Given the description of an element on the screen output the (x, y) to click on. 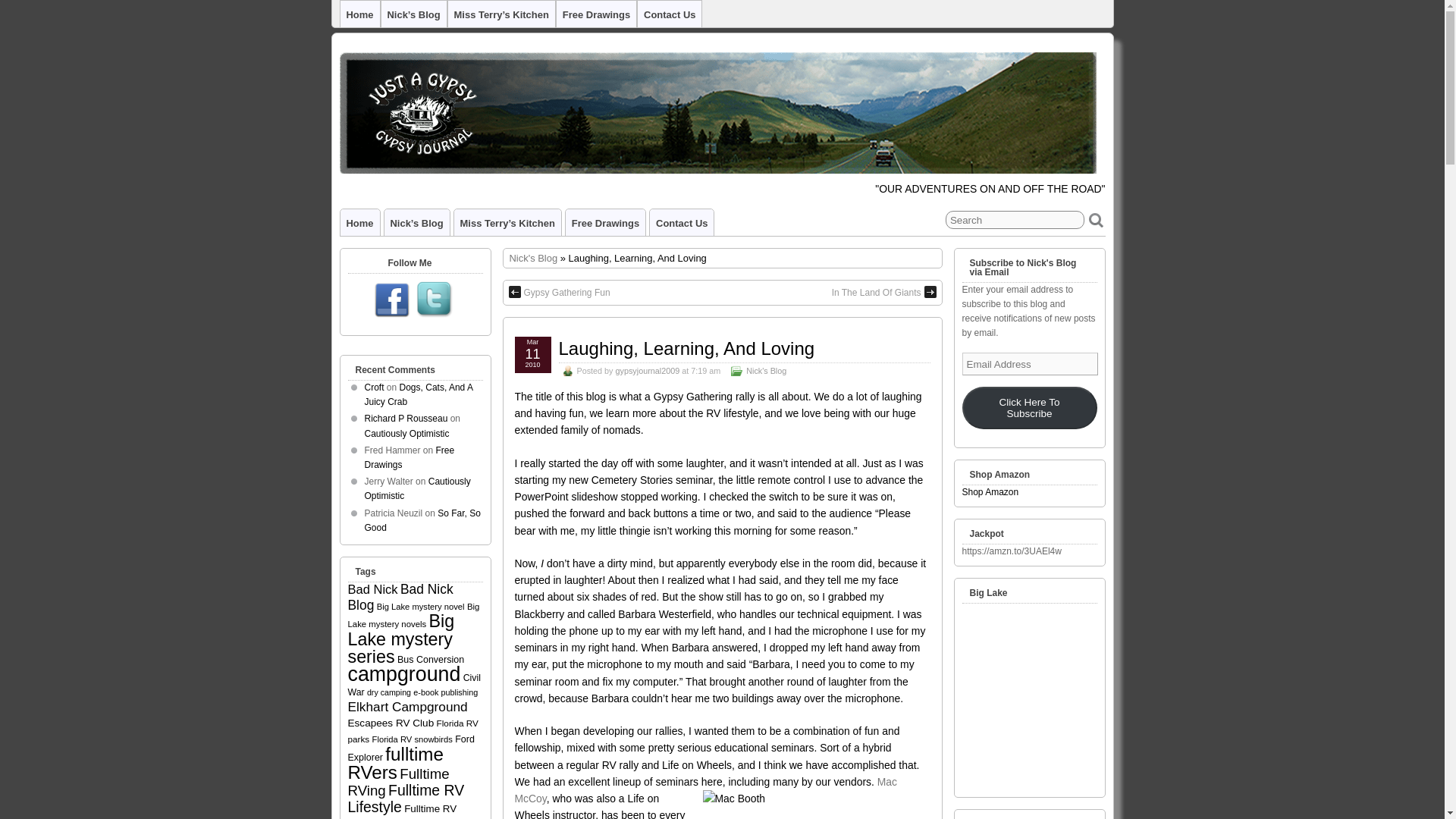
Laughing, Learning, And Loving (685, 348)
Free Drawings (596, 13)
Laughing, Learning, And Loving (685, 348)
Mac McCoy (704, 789)
  In The Land Of Giants (883, 292)
gypsyjournal2009 (647, 370)
Contact Us (681, 222)
Nick's Blog (765, 370)
Nick's Blog (533, 257)
Free Drawings (605, 222)
